Given the description of an element on the screen output the (x, y) to click on. 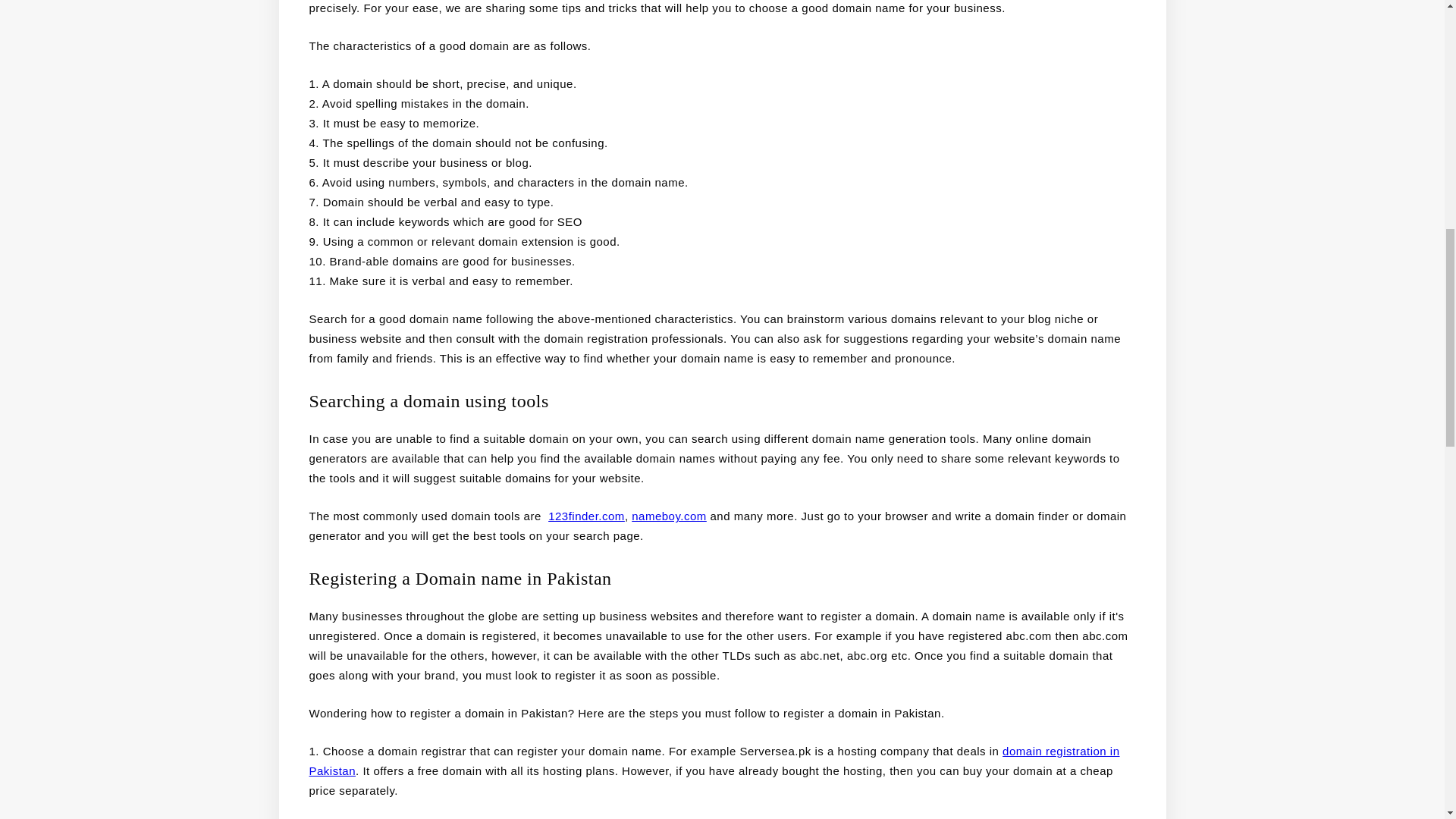
domain registration in Pakistan (713, 760)
nameboy.com (668, 515)
123finder.com (586, 515)
